Given the description of an element on the screen output the (x, y) to click on. 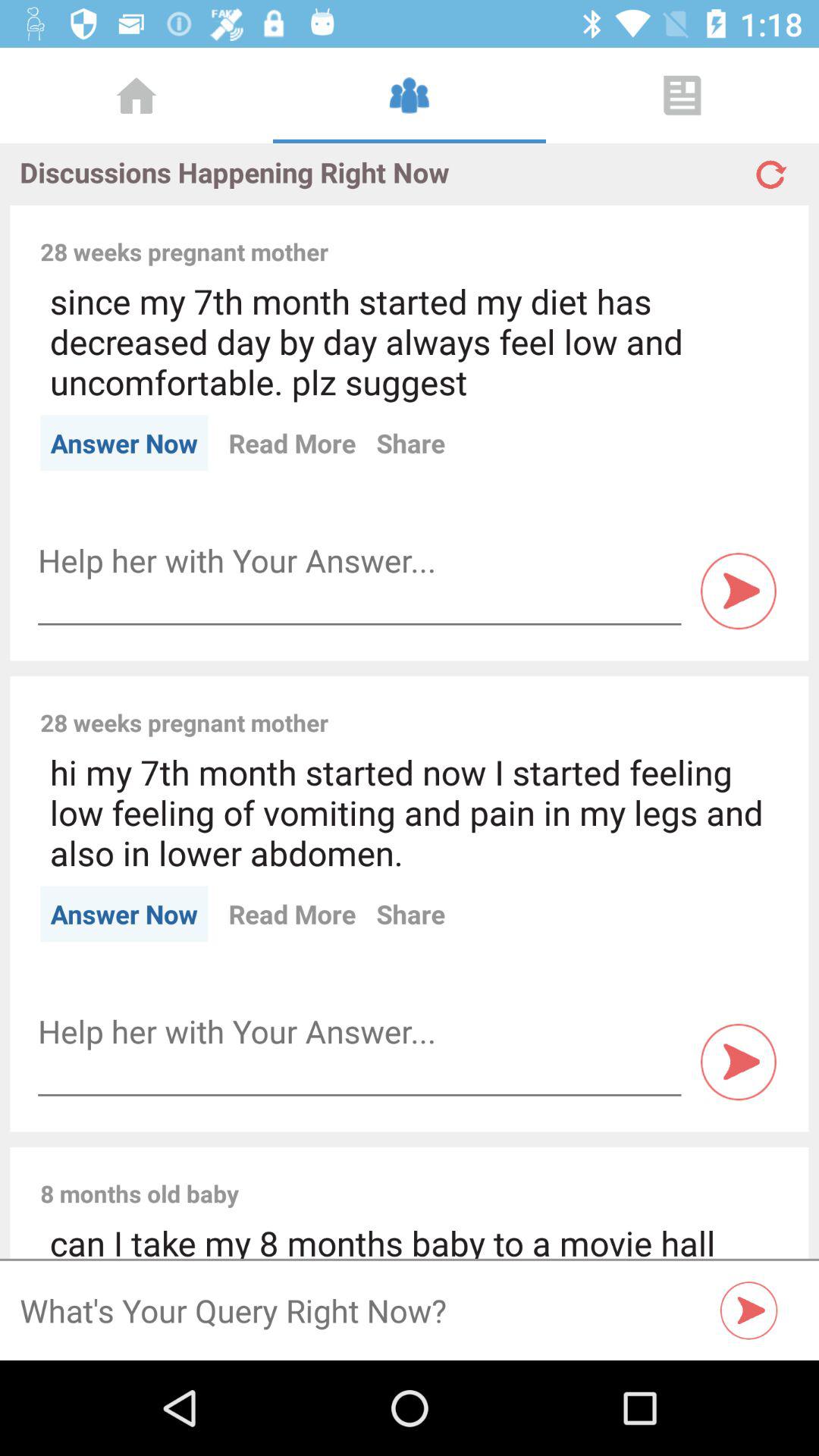
press the item next to 28 weeks pregnant icon (563, 706)
